Given the description of an element on the screen output the (x, y) to click on. 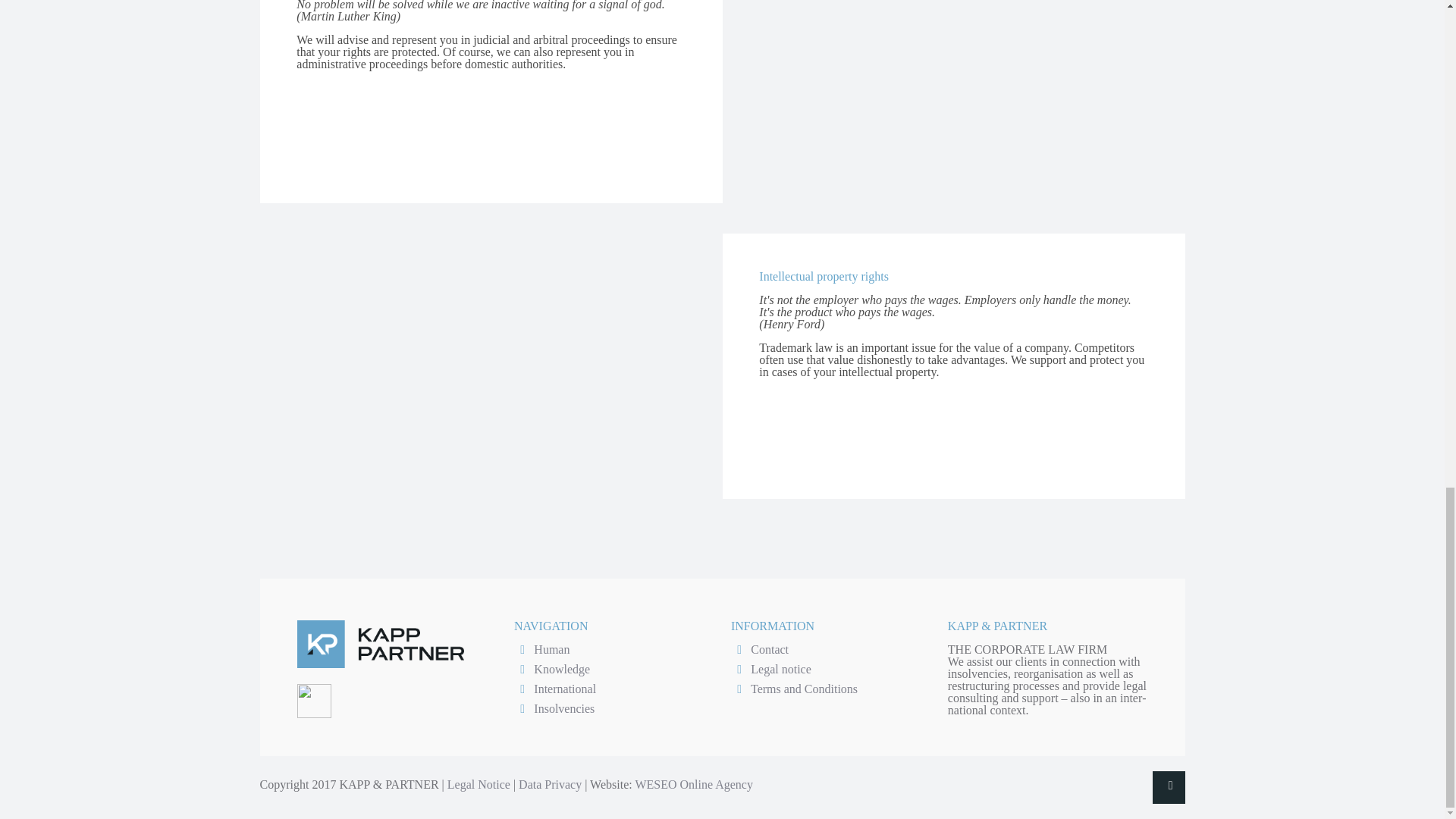
Legal Notice (478, 784)
Legal notice (780, 668)
WESEO Online Agency (693, 784)
Terms and Conditions (804, 688)
WESEO Online Agency (693, 784)
Contact (770, 649)
International (564, 688)
Knowledge (561, 668)
Data Privacy (549, 784)
Human (551, 649)
Insolvencies (564, 707)
